Given the description of an element on the screen output the (x, y) to click on. 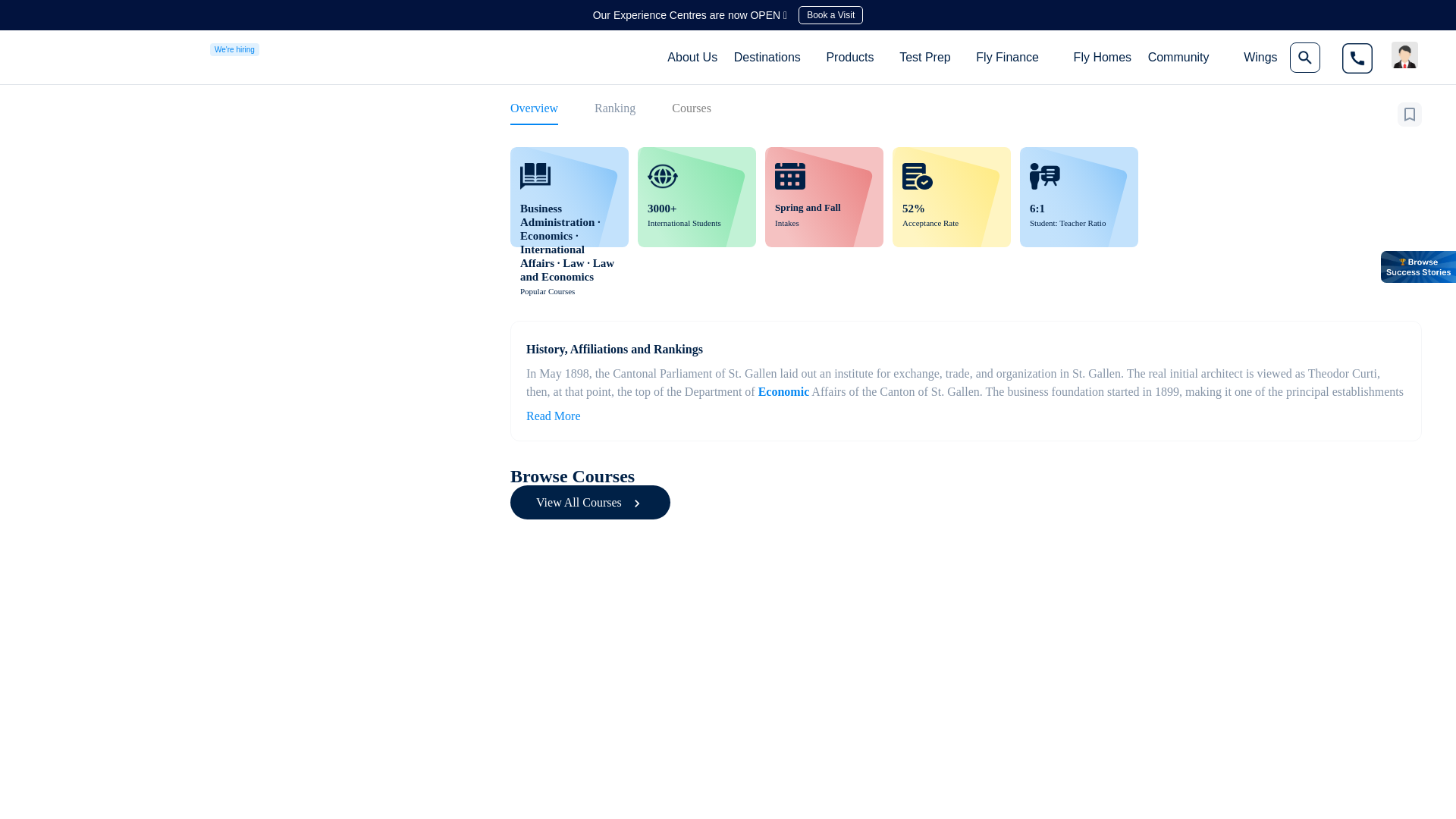
Destinations (767, 56)
Fly Finance (1007, 56)
About Us (691, 57)
Test Prep (924, 56)
We're hiring (234, 48)
Fly Homes (1102, 57)
Products (849, 56)
Book a Visit (830, 14)
